Given the description of an element on the screen output the (x, y) to click on. 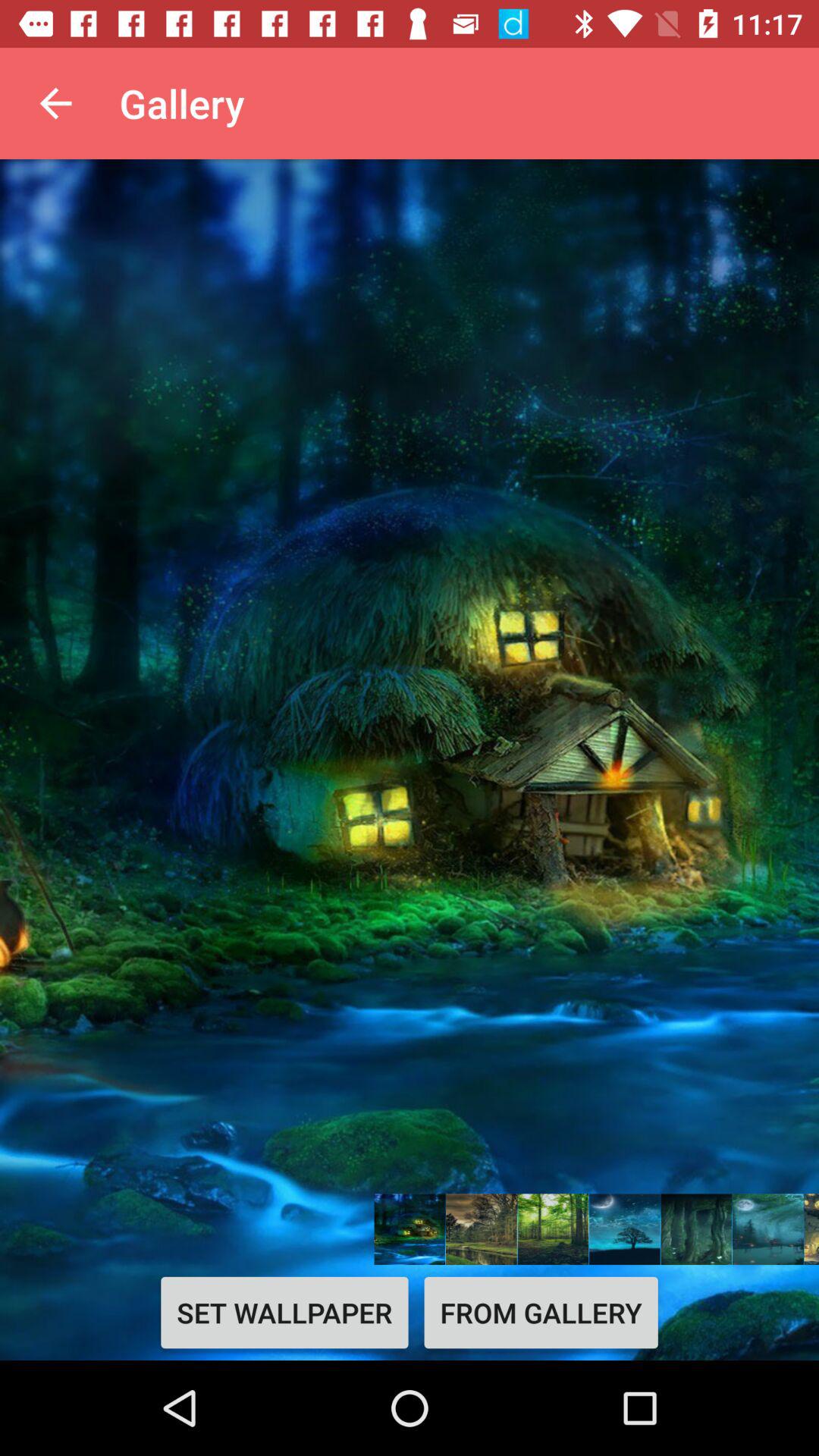
open the app next to the gallery app (55, 103)
